Given the description of an element on the screen output the (x, y) to click on. 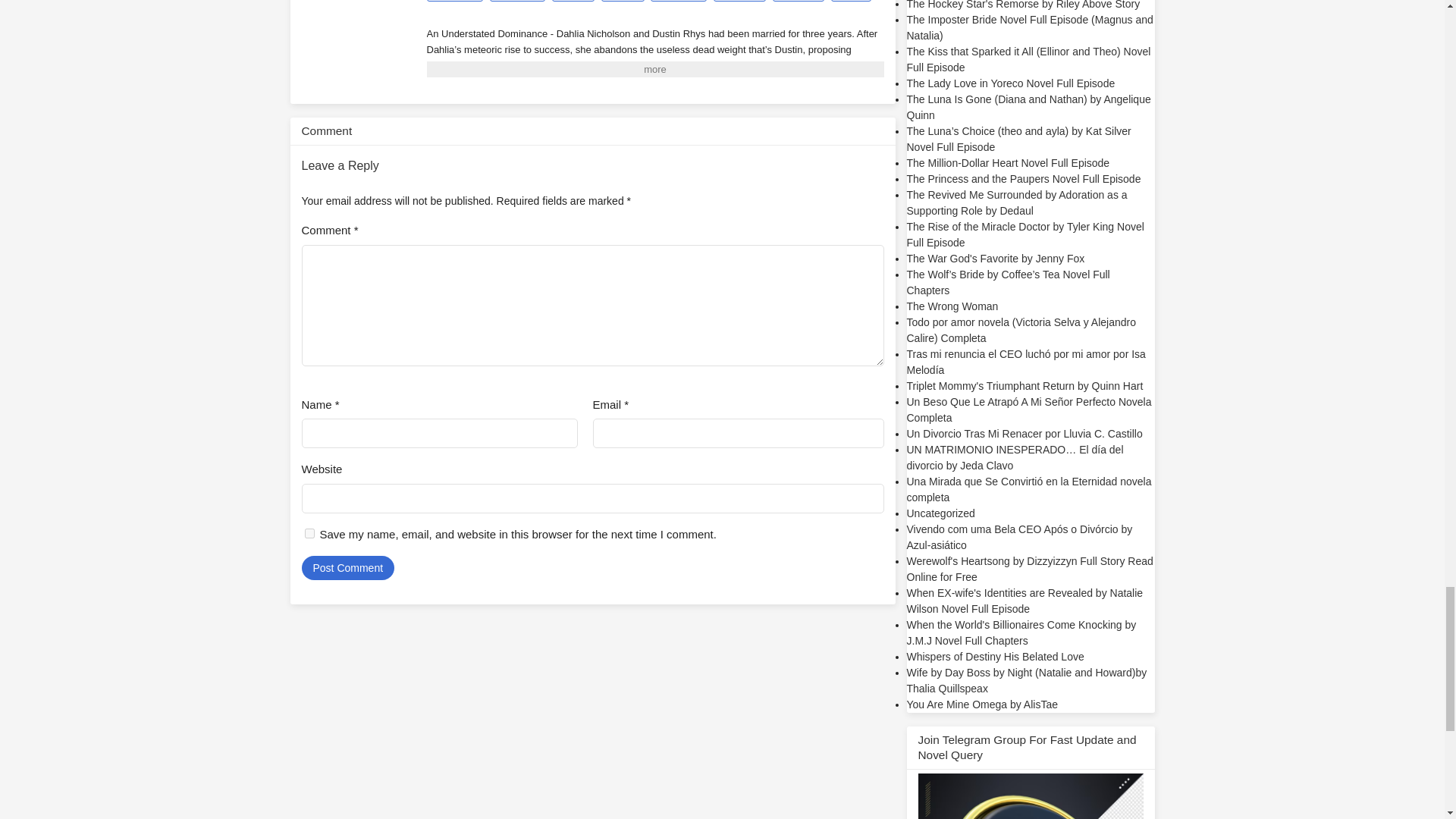
Powerful (799, 0)
Intelligent (678, 0)
Post Comment (347, 567)
Family (572, 0)
Humor (623, 0)
yes (309, 533)
Dominant (517, 0)
Marriage (739, 0)
Billionaire (453, 0)
Post Comment (347, 567)
Urban (850, 0)
